Given the description of an element on the screen output the (x, y) to click on. 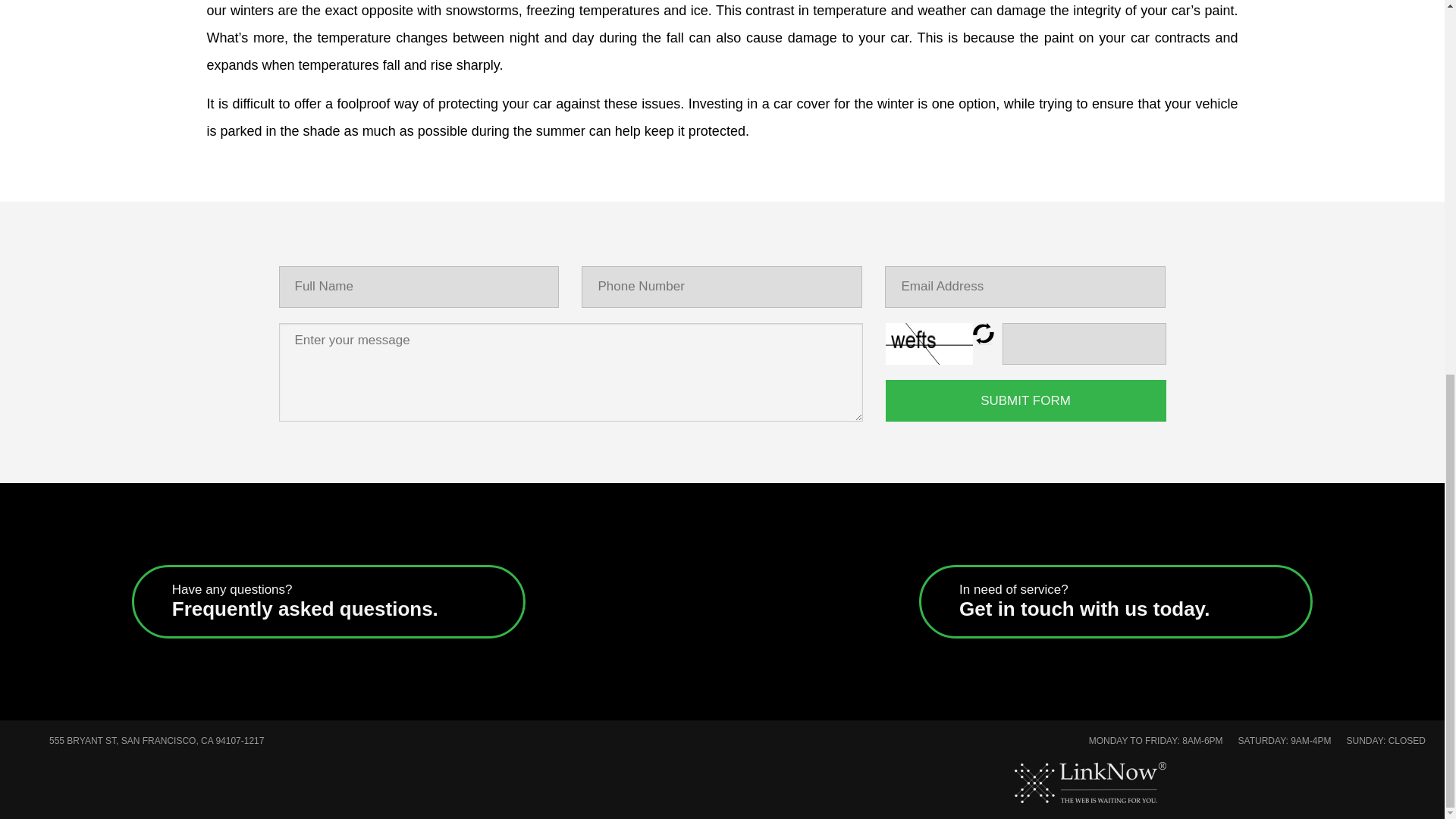
Refresh Captcha (1115, 601)
